Given the description of an element on the screen output the (x, y) to click on. 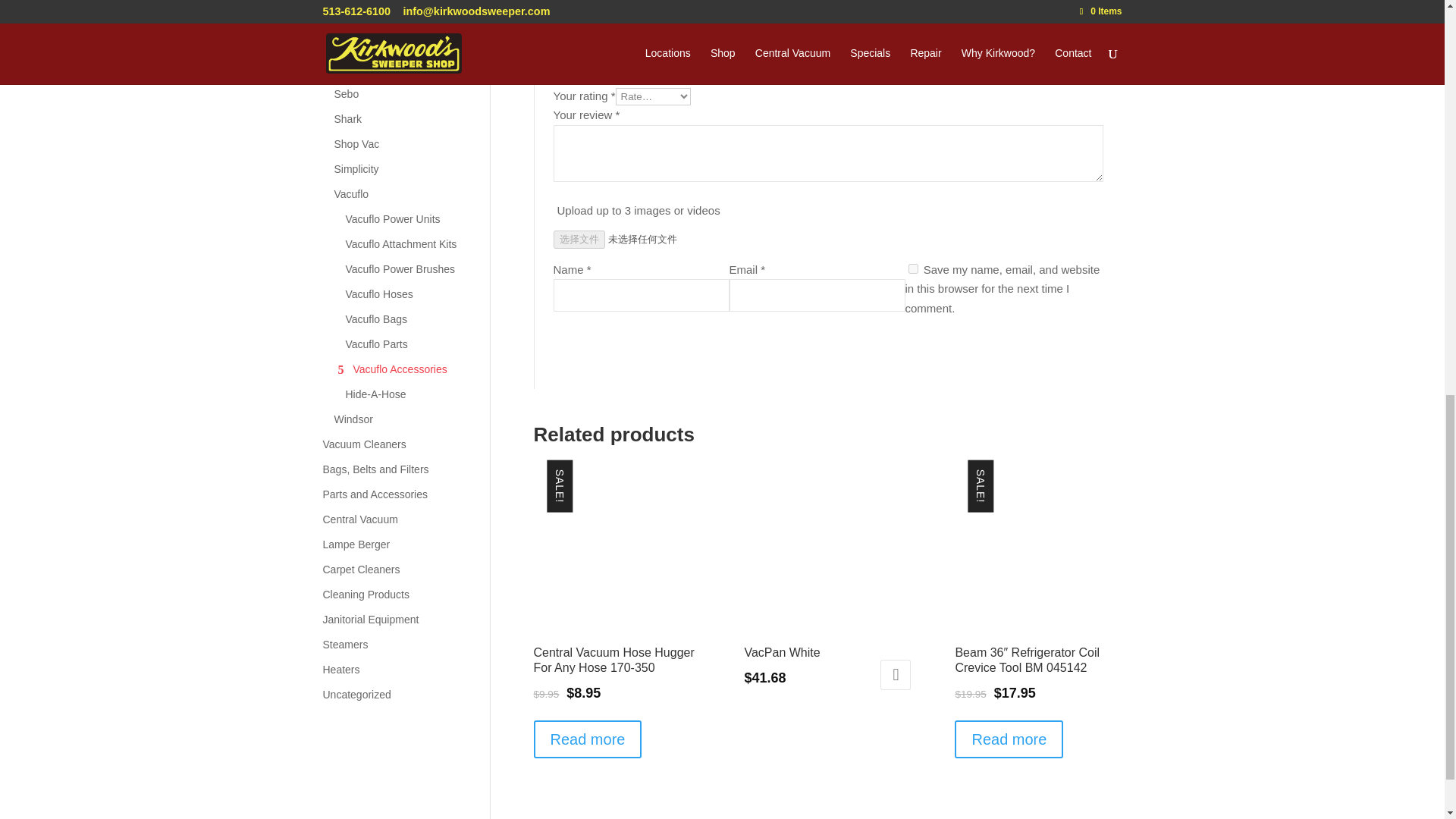
yes (913, 268)
Read more (588, 739)
Read more (1008, 739)
Submit (1063, 351)
Submit (1063, 351)
Add to cart (895, 675)
